Given the description of an element on the screen output the (x, y) to click on. 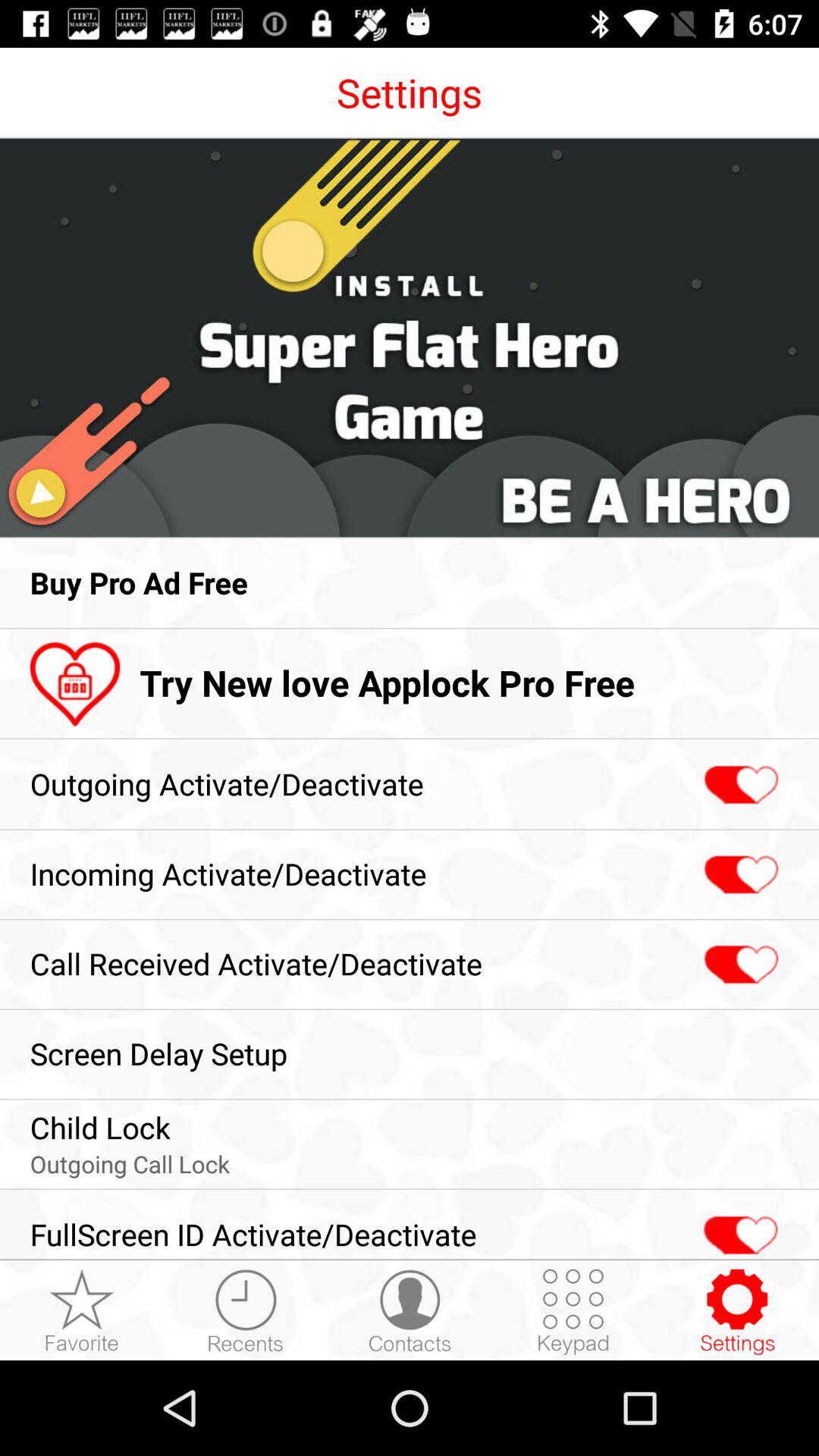
see recents (245, 1311)
